Given the description of an element on the screen output the (x, y) to click on. 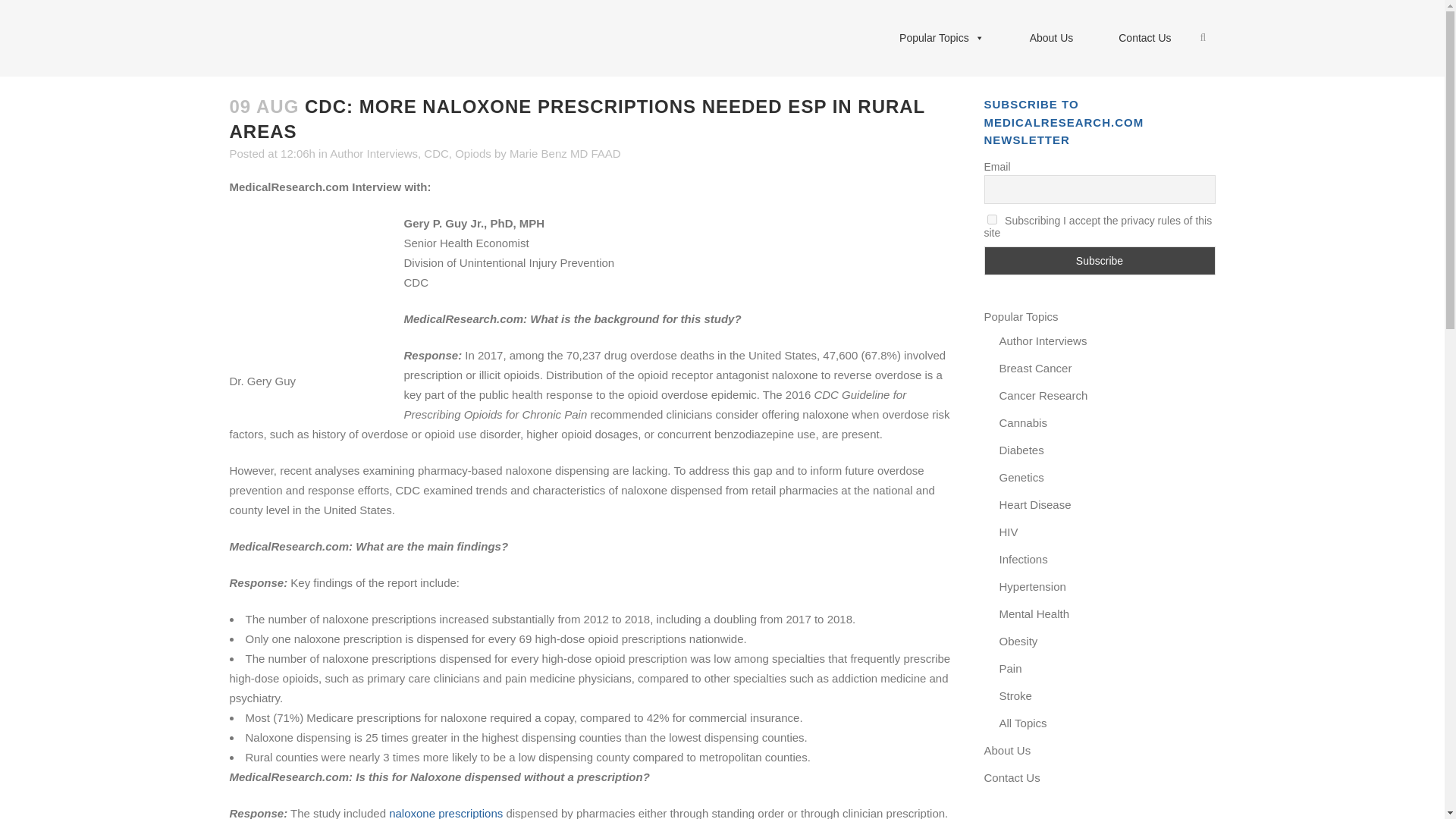
on (992, 219)
Subscribe (1099, 260)
Contact Us (1144, 37)
Popular Topics (941, 37)
About Us (1051, 37)
